Given the description of an element on the screen output the (x, y) to click on. 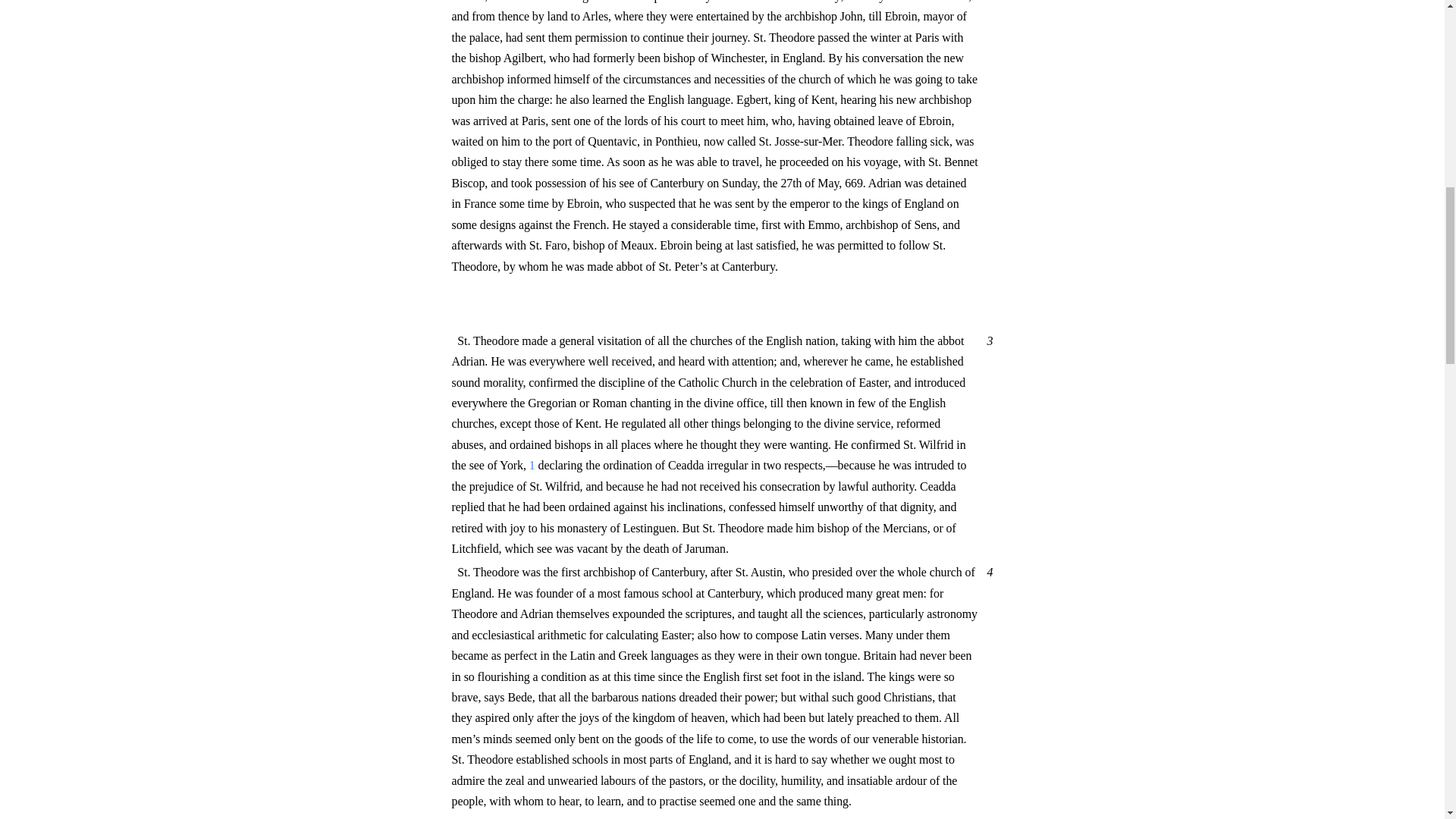
  3 (986, 340)
  4 (986, 571)
